Given the description of an element on the screen output the (x, y) to click on. 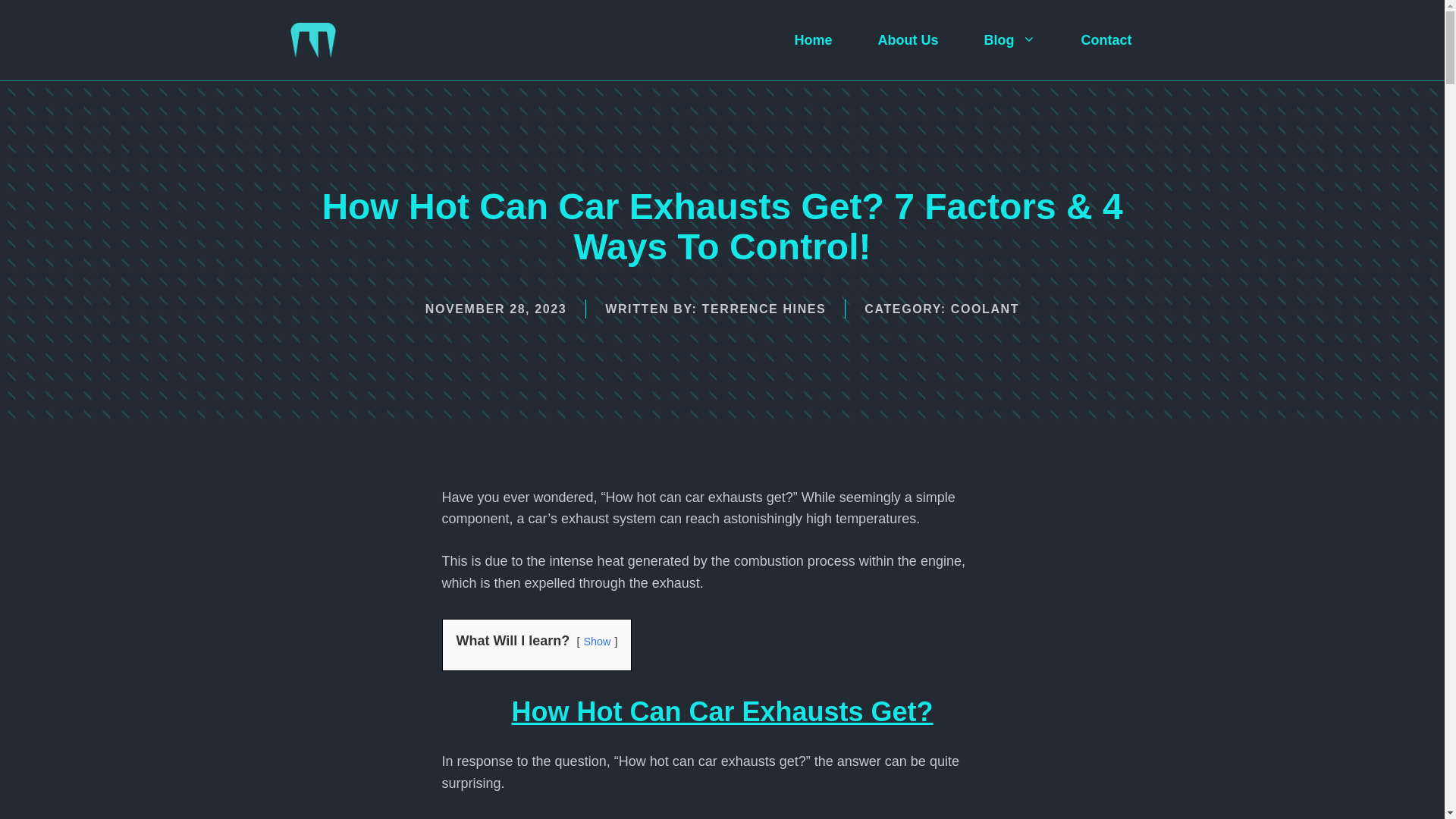
About Us (908, 40)
Contact (1106, 40)
Home (812, 40)
Contact (1106, 40)
Show (596, 641)
Blog (1009, 40)
TERRENCE HINES (764, 308)
